Given the description of an element on the screen output the (x, y) to click on. 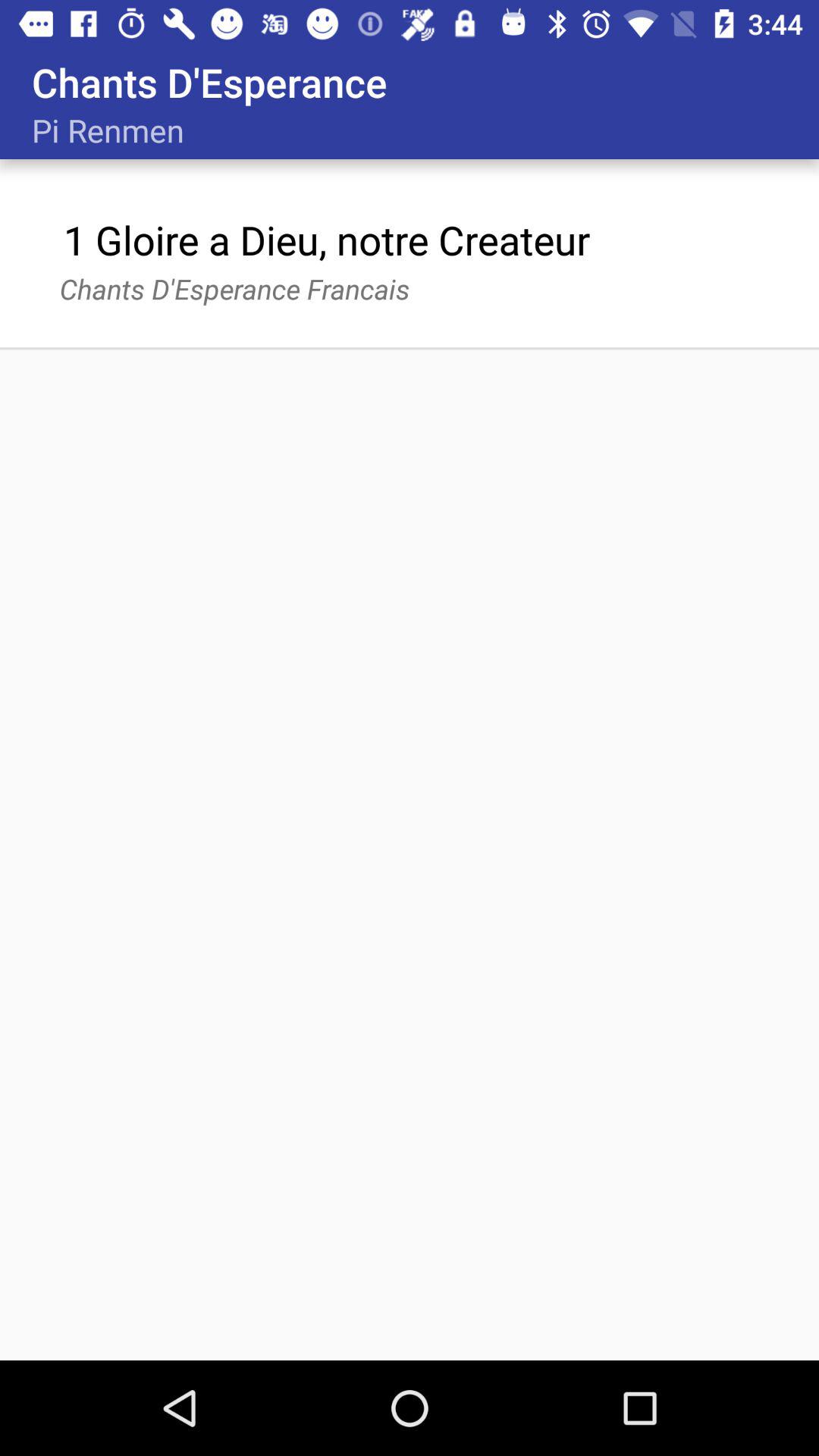
jump until the 1 gloire a item (326, 239)
